Given the description of an element on the screen output the (x, y) to click on. 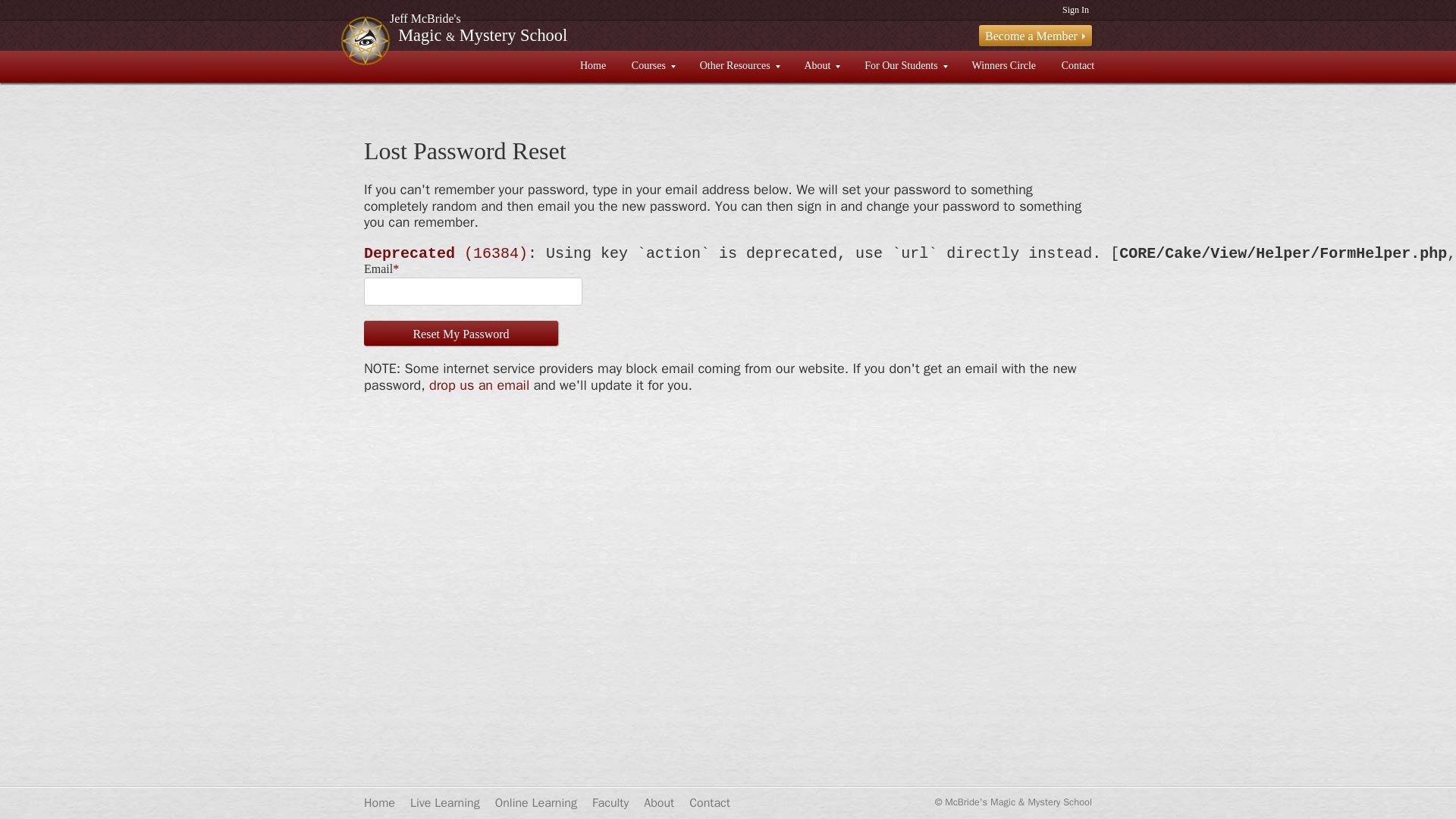
drop us an email (479, 384)
Reset My Password (460, 333)
Home (592, 66)
Reset My Password (460, 333)
Home (379, 802)
Live Learning (445, 802)
Winners Circle (1003, 66)
Become a Member (1035, 35)
Courses (652, 66)
Contact (1077, 66)
For Our Students (904, 66)
About (821, 66)
Sign In (1074, 9)
Other Resources (739, 66)
